Given the description of an element on the screen output the (x, y) to click on. 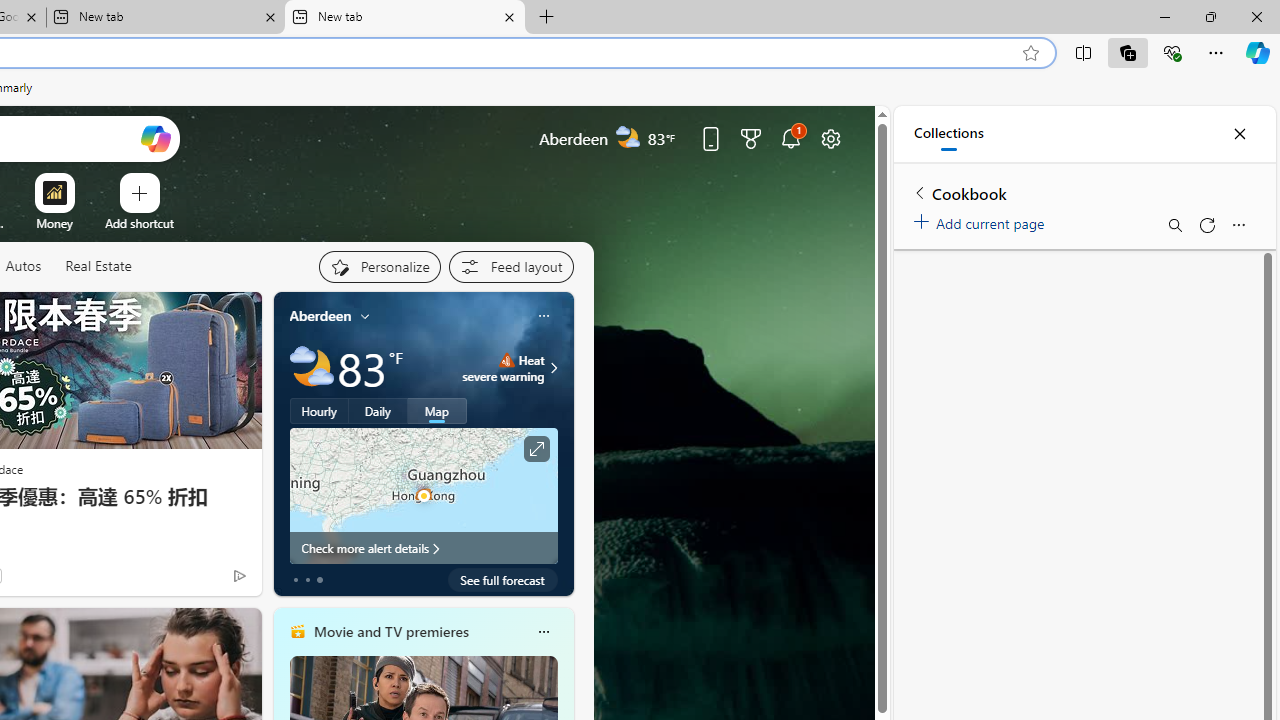
Money (53, 223)
Check more alert details (423, 547)
See full forecast (502, 579)
Page settings (831, 138)
Real Estate (98, 265)
